Given the description of an element on the screen output the (x, y) to click on. 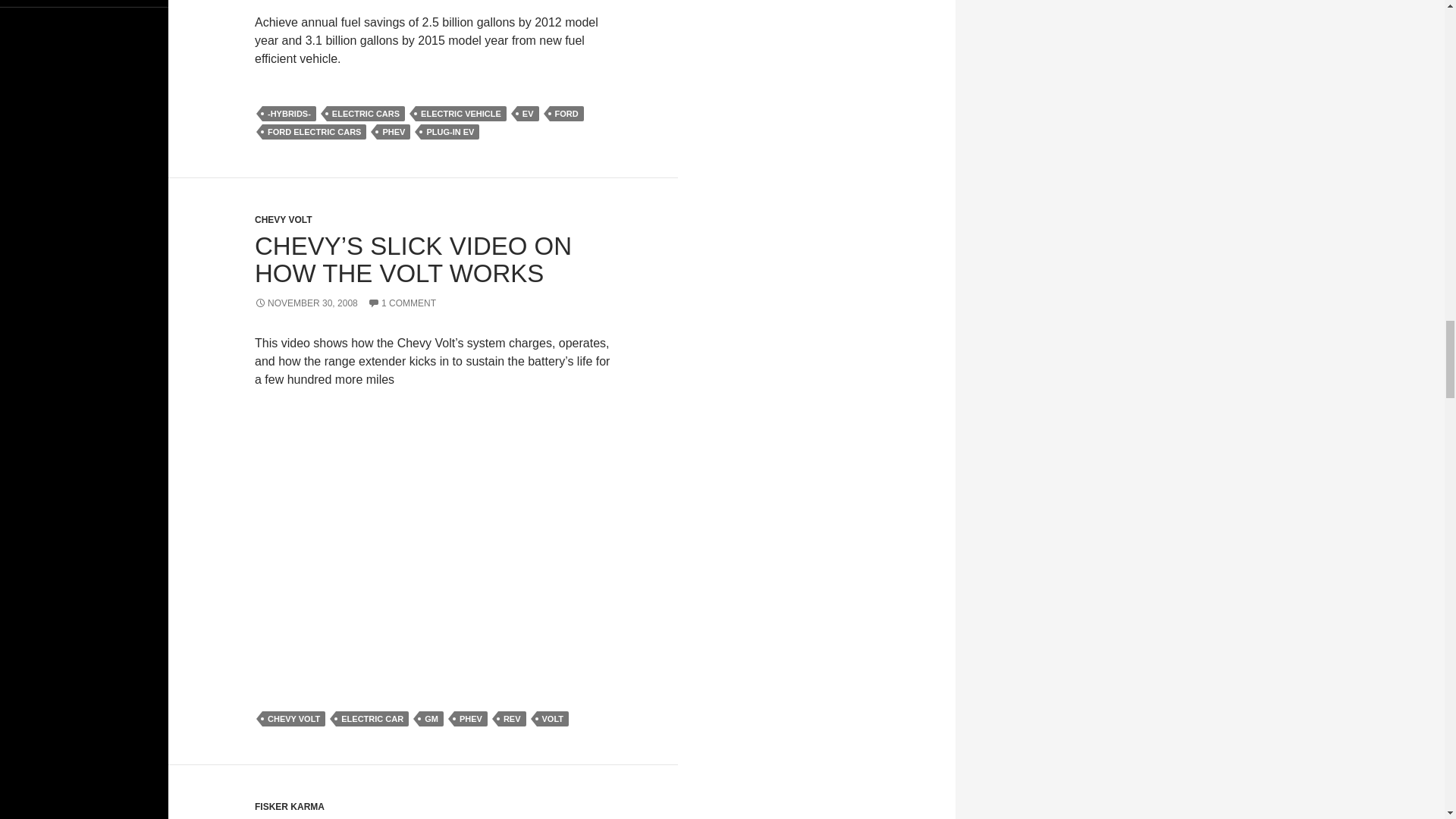
EV (527, 113)
FORD (565, 113)
ELECTRIC VEHICLE (460, 113)
FORD ELECTRIC CARS (314, 131)
ELECTRIC CARS (365, 113)
-HYBRIDS- (288, 113)
